Given the description of an element on the screen output the (x, y) to click on. 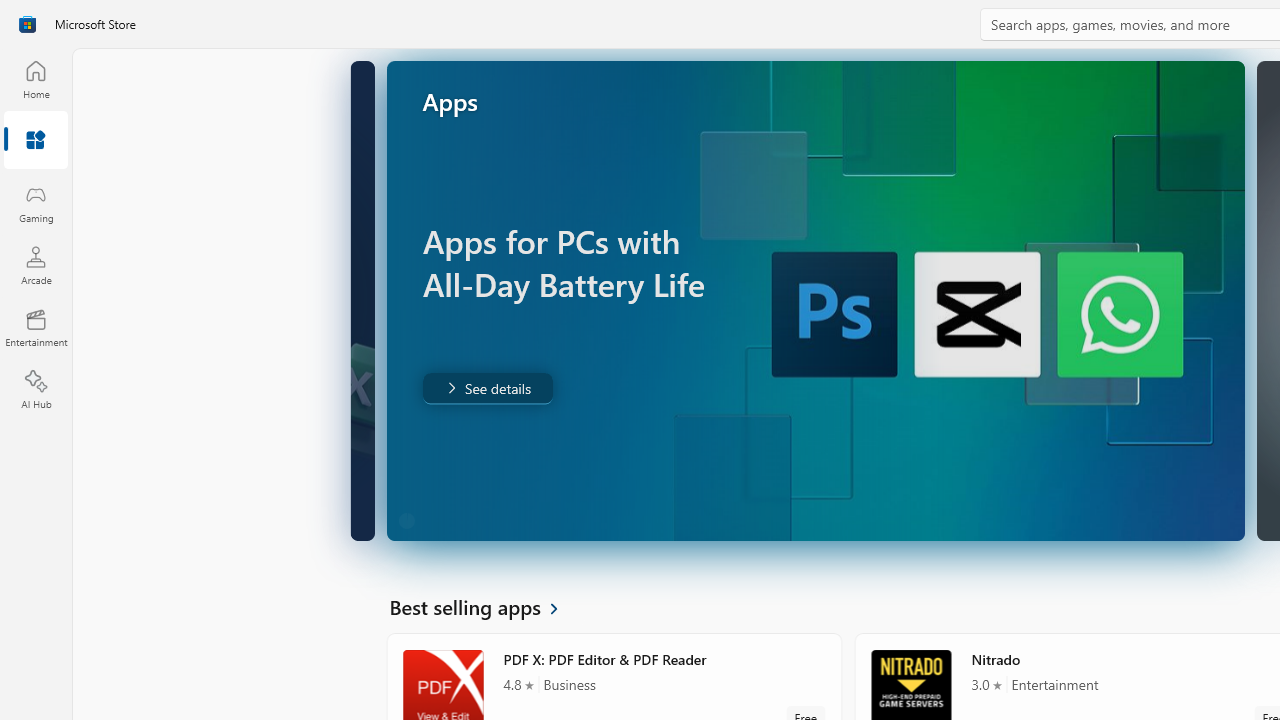
See all  Best selling apps (485, 606)
AutomationID: Image (815, 300)
Apps for PCs with All-Day Battery Life. .  . See details (486, 387)
